Given the description of an element on the screen output the (x, y) to click on. 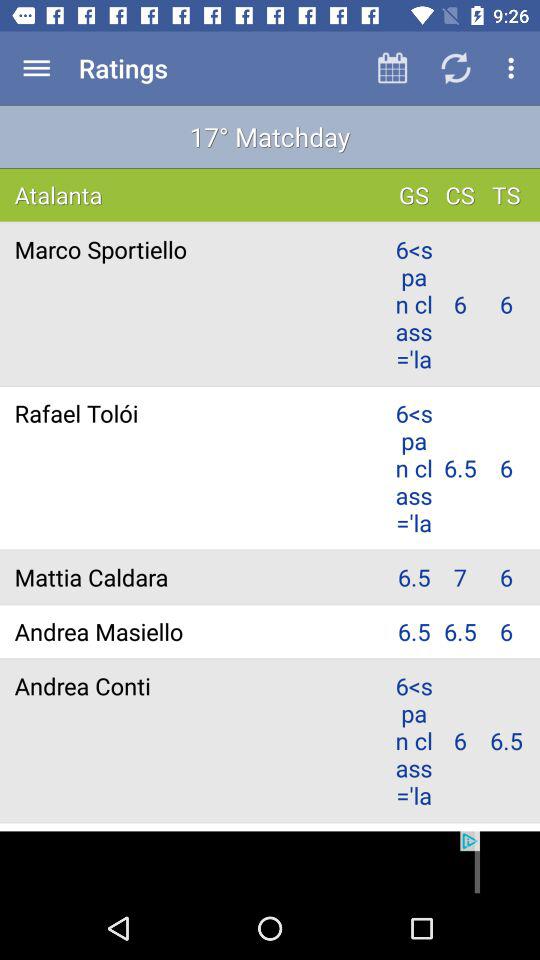
advertisement (270, 864)
